Given the description of an element on the screen output the (x, y) to click on. 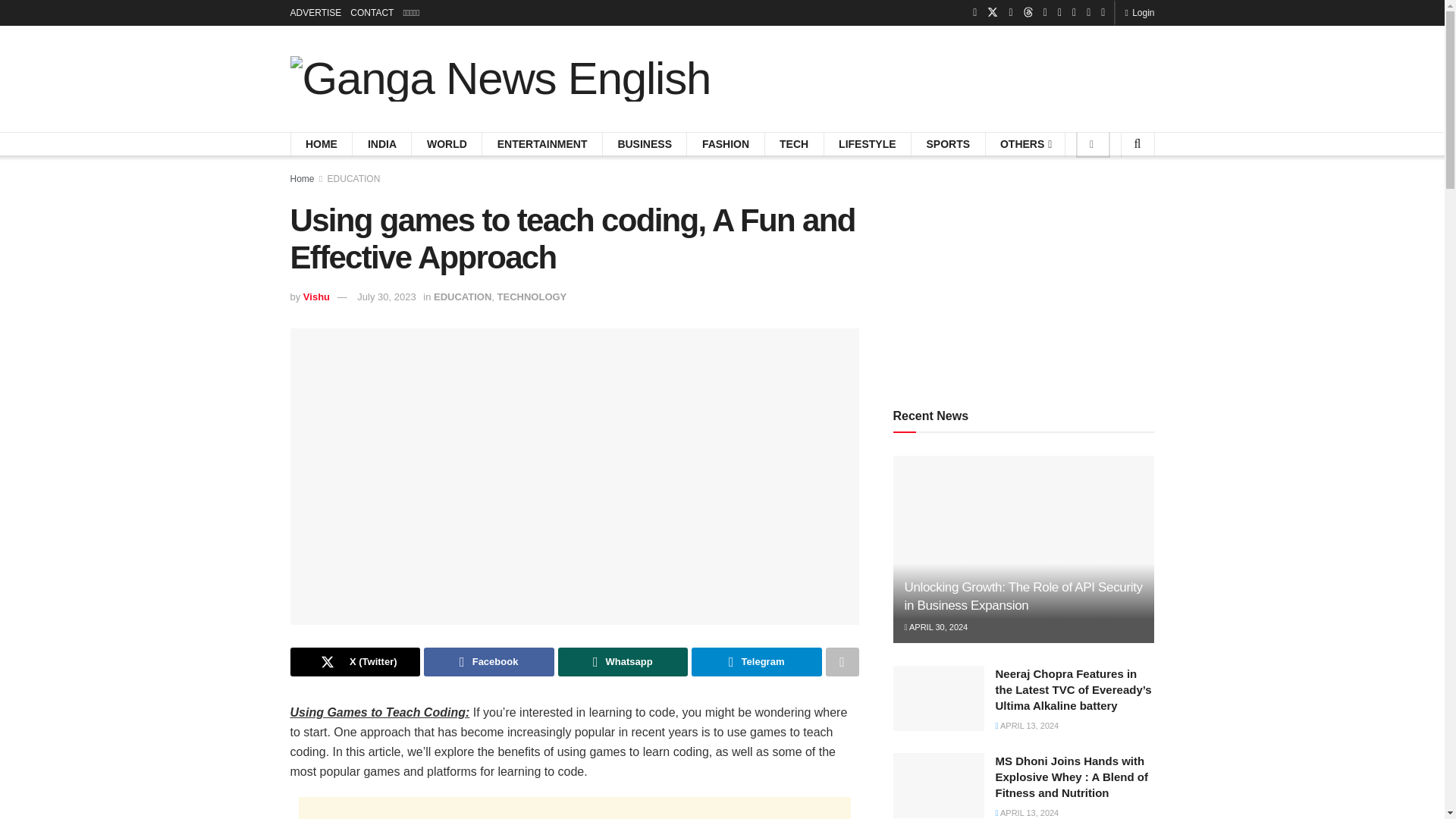
ENTERTAINMENT (542, 143)
HOME (321, 143)
ADVERTISE (314, 12)
INDIA (382, 143)
SPORTS (947, 143)
FASHION (725, 143)
LIFESTYLE (866, 143)
OTHERS (1024, 143)
Login (1139, 12)
CONTACT (371, 12)
